Given the description of an element on the screen output the (x, y) to click on. 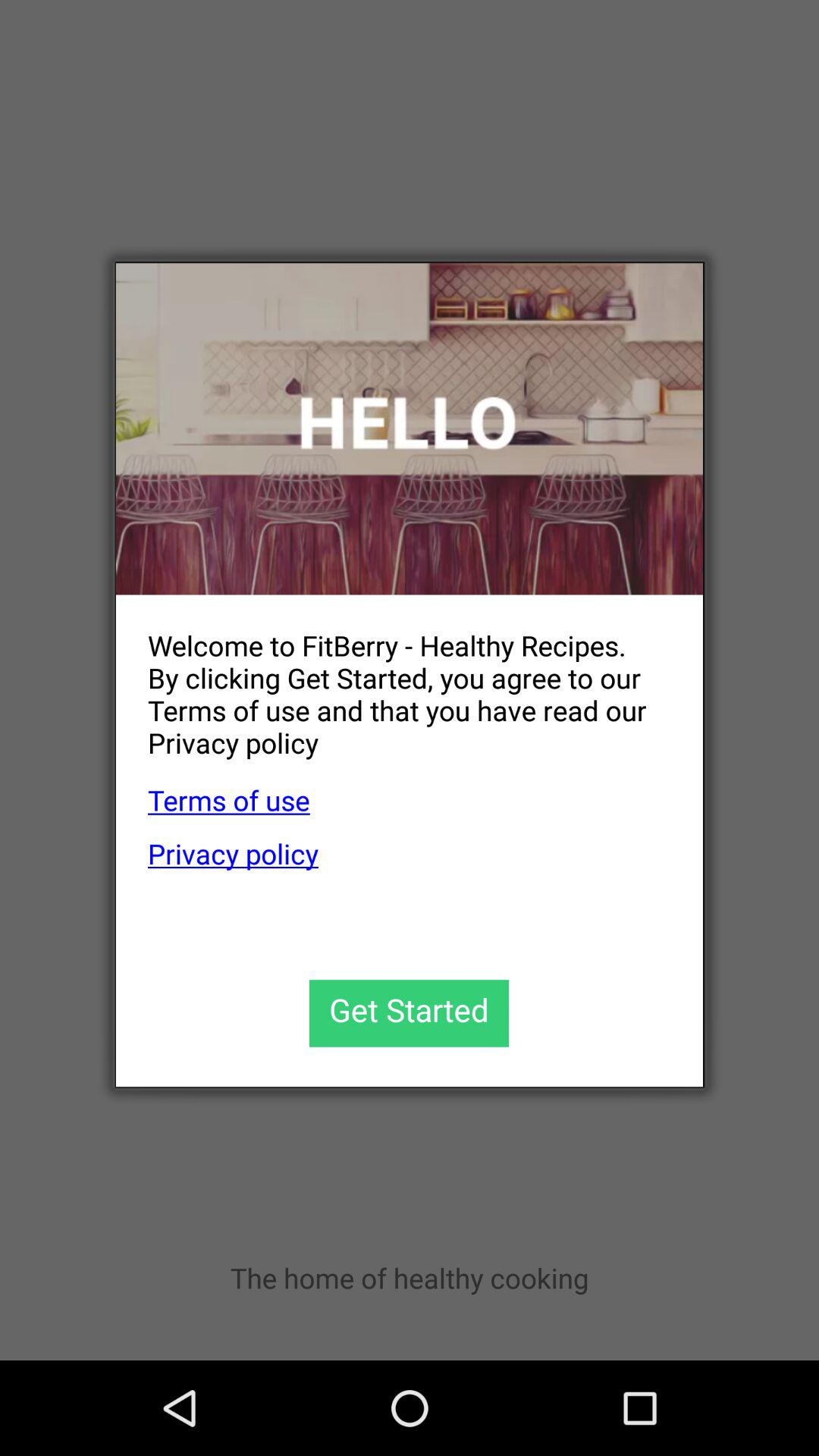
turn on the item above welcome to fitberry app (409, 428)
